Given the description of an element on the screen output the (x, y) to click on. 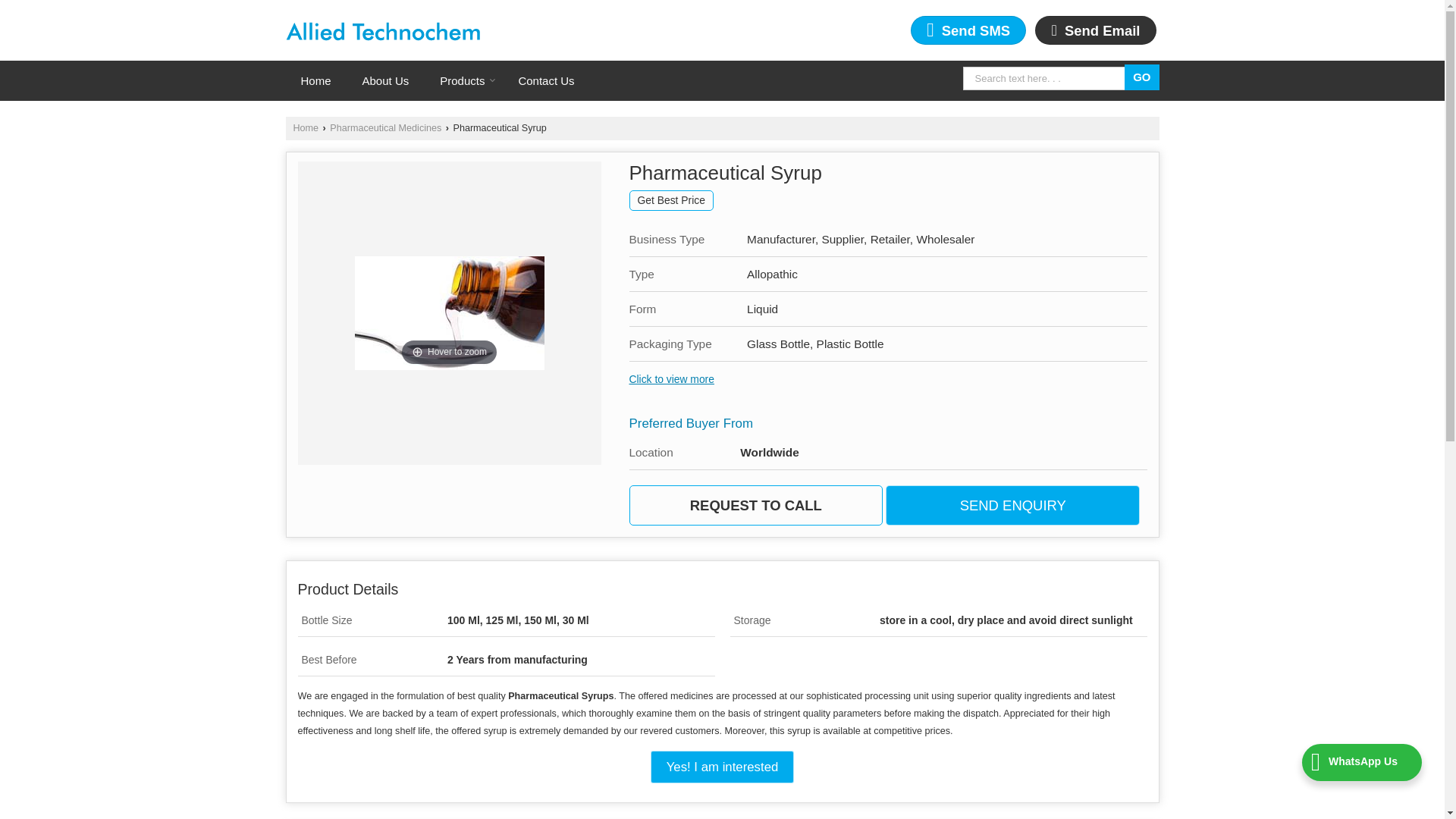
About Us (386, 80)
Products (463, 80)
Products (463, 80)
Search text here. . . (1046, 78)
Allied Technochem (382, 31)
Home (315, 80)
Allied Technochem (382, 30)
Home (305, 127)
GO (1141, 77)
Send Email (1095, 29)
